Given the description of an element on the screen output the (x, y) to click on. 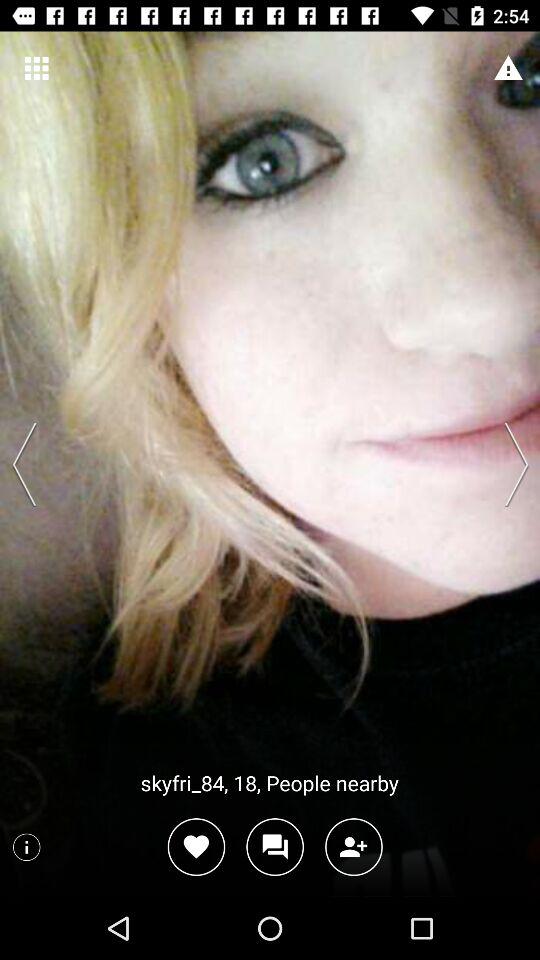
open like options (196, 846)
